Given the description of an element on the screen output the (x, y) to click on. 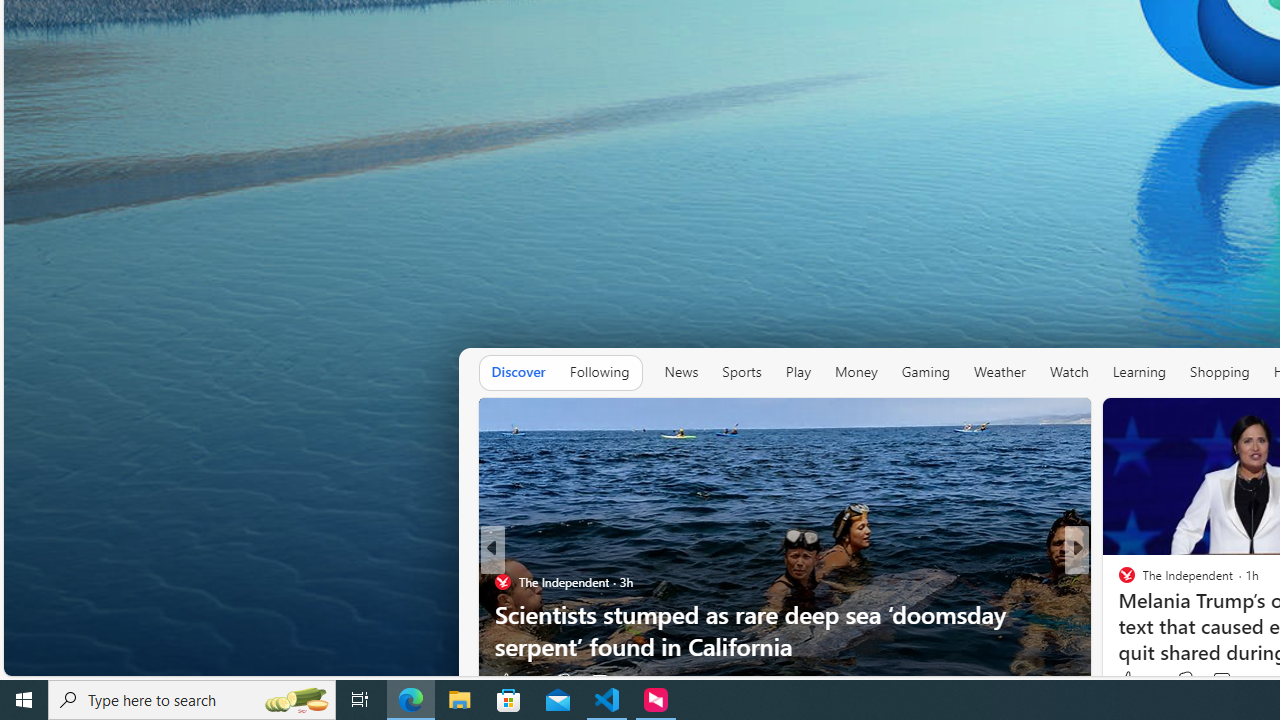
424 Like (1137, 680)
View comments 11 Comment (1215, 681)
Daily Meal (1117, 581)
